Given the description of an element on the screen output the (x, y) to click on. 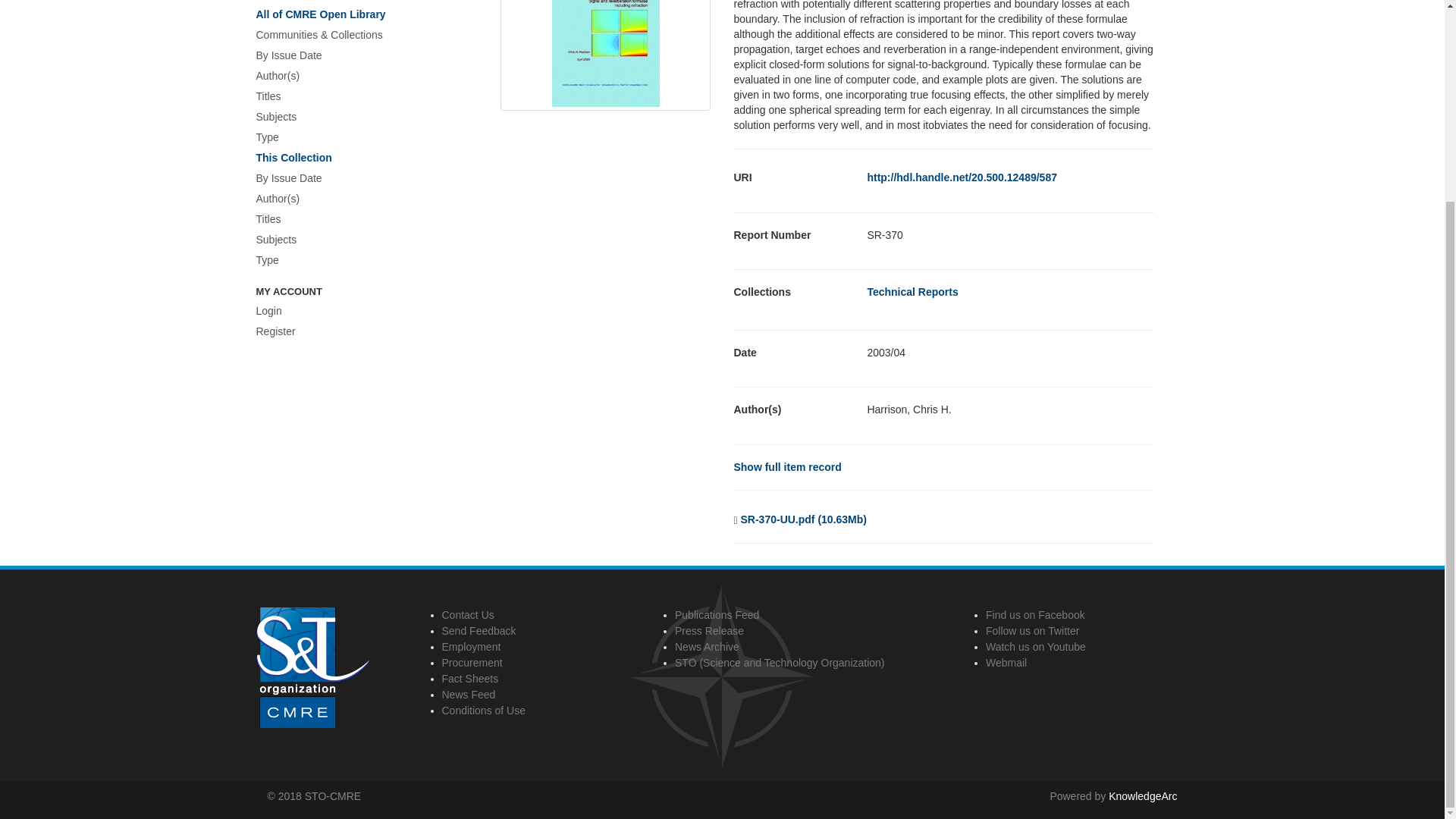
Register (357, 332)
Procurement (471, 662)
Login (357, 311)
KnowledgeArc (1142, 796)
Contact Us (467, 614)
Send Feedback (478, 630)
Technical Reports (912, 291)
Titles (357, 96)
By Issue Date (357, 55)
Titles (357, 219)
